Given the description of an element on the screen output the (x, y) to click on. 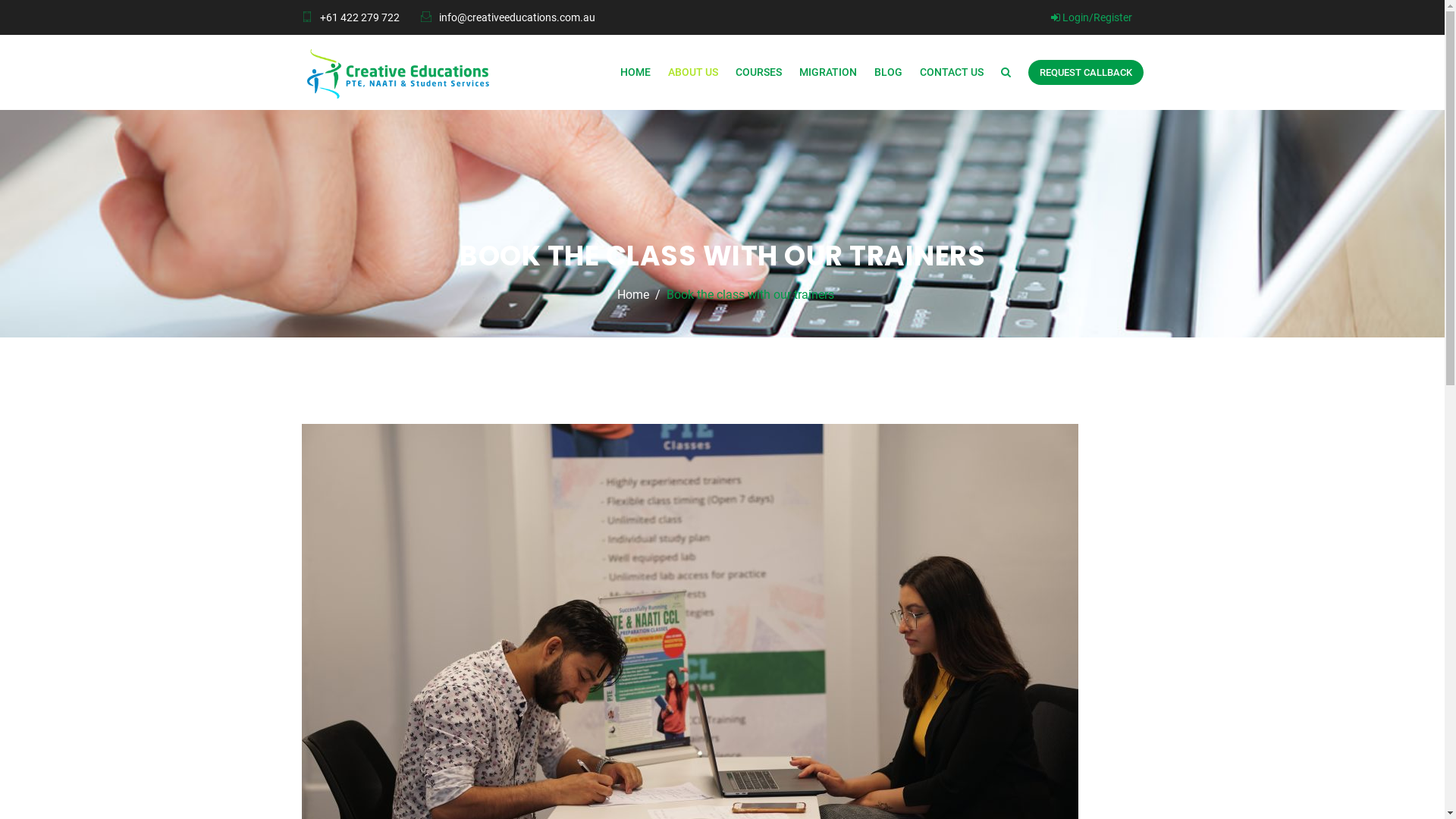
ABOUT US Element type: text (692, 71)
Login/Register Element type: text (1091, 17)
+61 422 279 722 Element type: text (359, 17)
REQUEST CALLBACK Element type: text (1085, 71)
Home Element type: text (633, 294)
CONTACT US Element type: text (950, 71)
MIGRATION Element type: text (827, 71)
HOME Element type: text (635, 71)
info@creativeeducations.com.au Element type: text (516, 17)
COURSES Element type: text (758, 71)
BLOG Element type: text (887, 71)
